Given the description of an element on the screen output the (x, y) to click on. 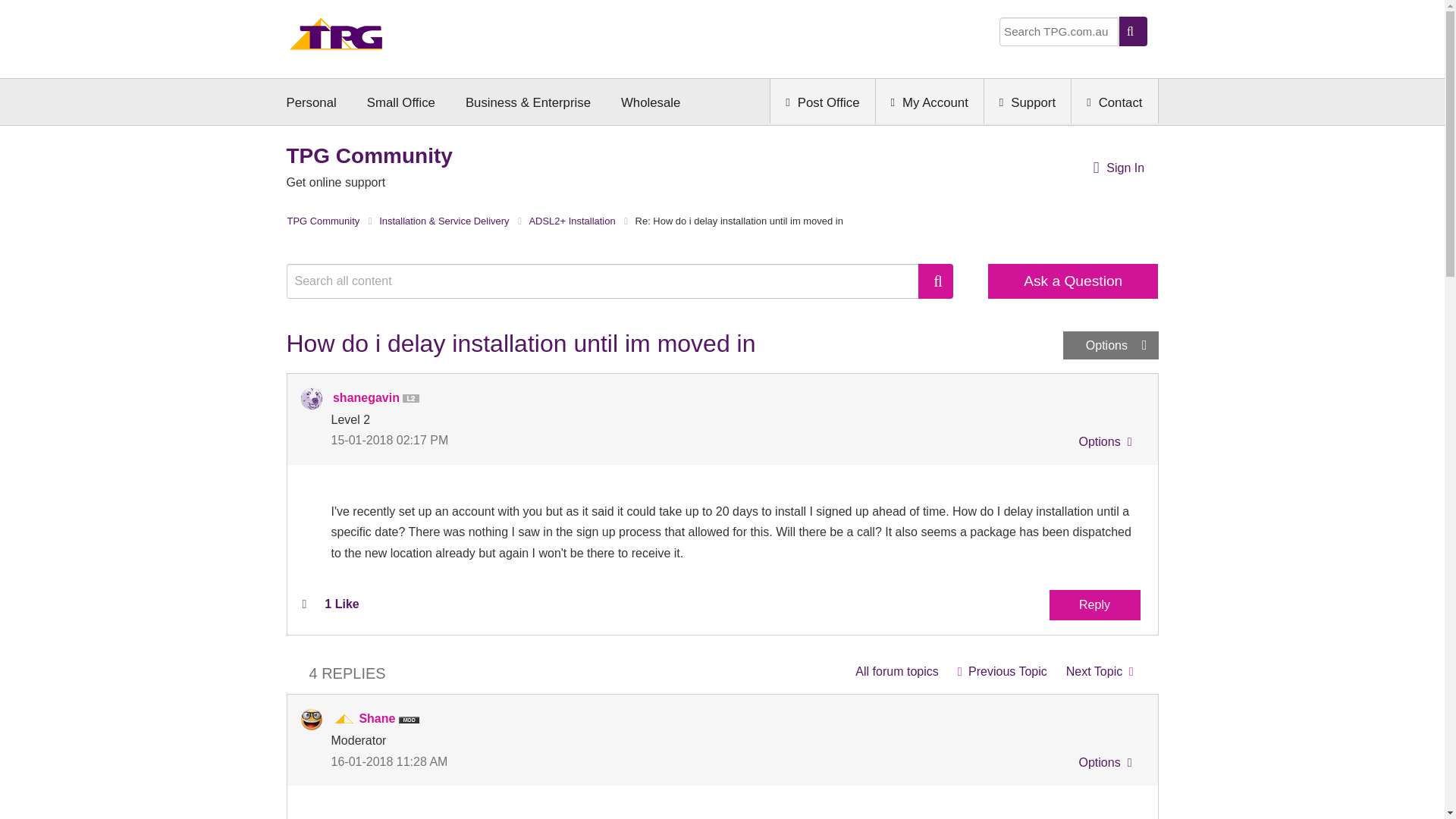
Click here to see who gave kudos to this post. (341, 604)
Search (610, 280)
shanegavin (310, 398)
Home (335, 38)
Shane (310, 719)
Search (935, 280)
Posted on (526, 439)
there is still no vacant pair at the address (1002, 671)
Level 2 (414, 398)
